Given the description of an element on the screen output the (x, y) to click on. 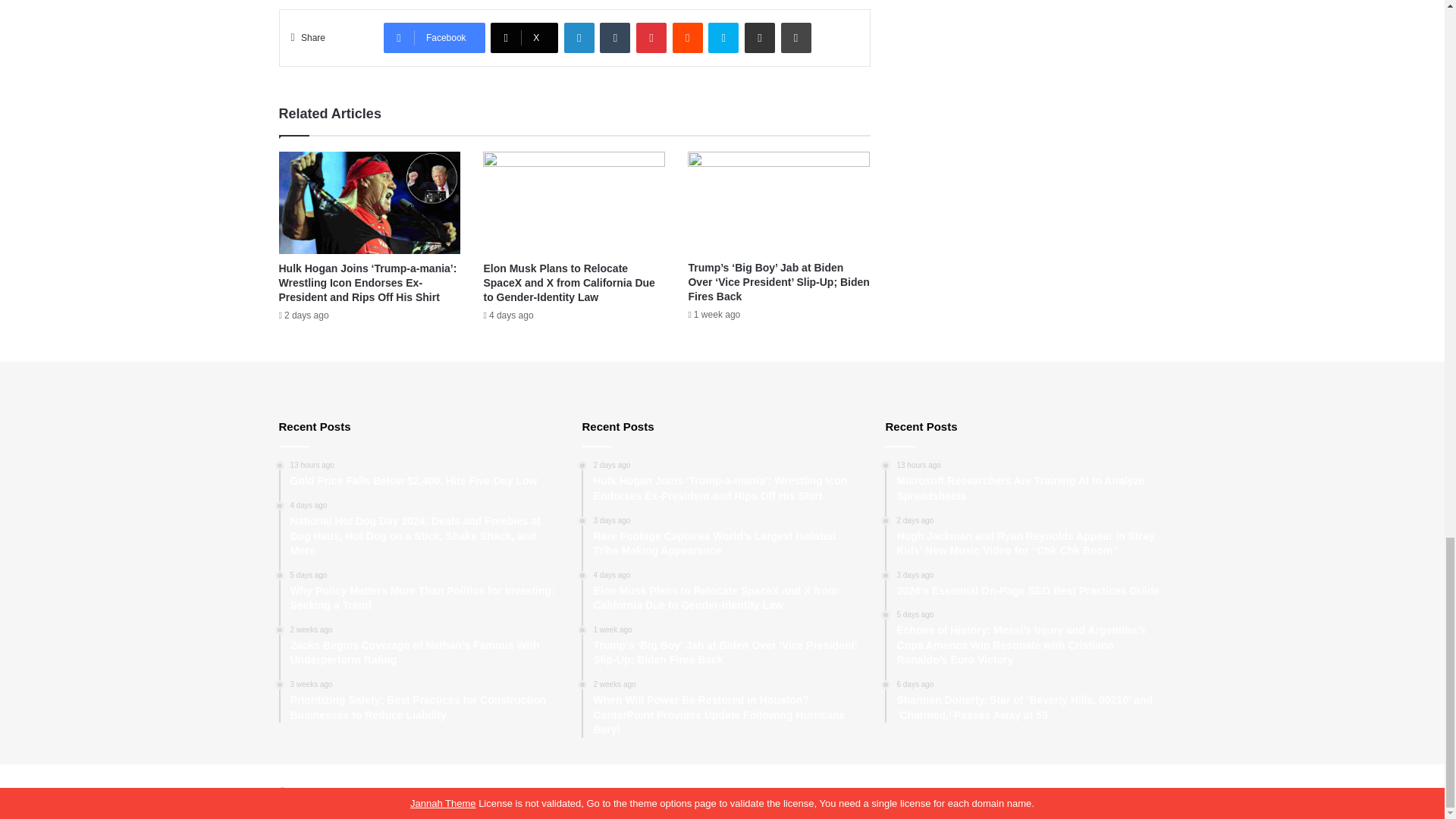
Skype (722, 37)
X (523, 37)
Reddit (687, 37)
LinkedIn (579, 37)
X (523, 37)
Pinterest (651, 37)
LinkedIn (579, 37)
Skype (722, 37)
Facebook (434, 37)
Tumblr (614, 37)
Facebook (434, 37)
Pinterest (651, 37)
Print (795, 37)
Share via Email (759, 37)
Reddit (687, 37)
